Given the description of an element on the screen output the (x, y) to click on. 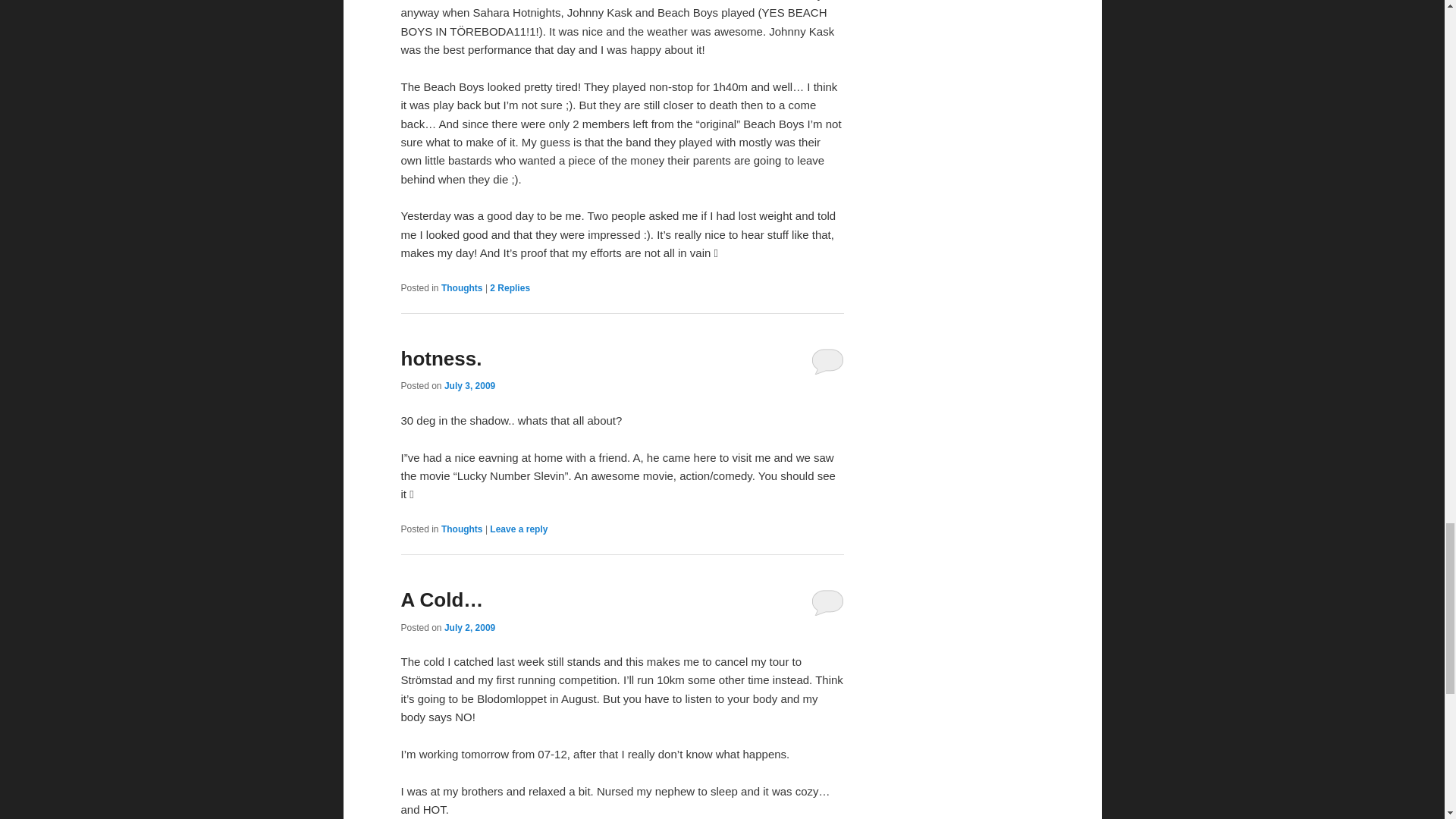
hotness. (440, 358)
22:58 (469, 385)
2 Replies (509, 287)
Thoughts (462, 287)
23:19 (469, 627)
July 3, 2009 (469, 385)
